Given the description of an element on the screen output the (x, y) to click on. 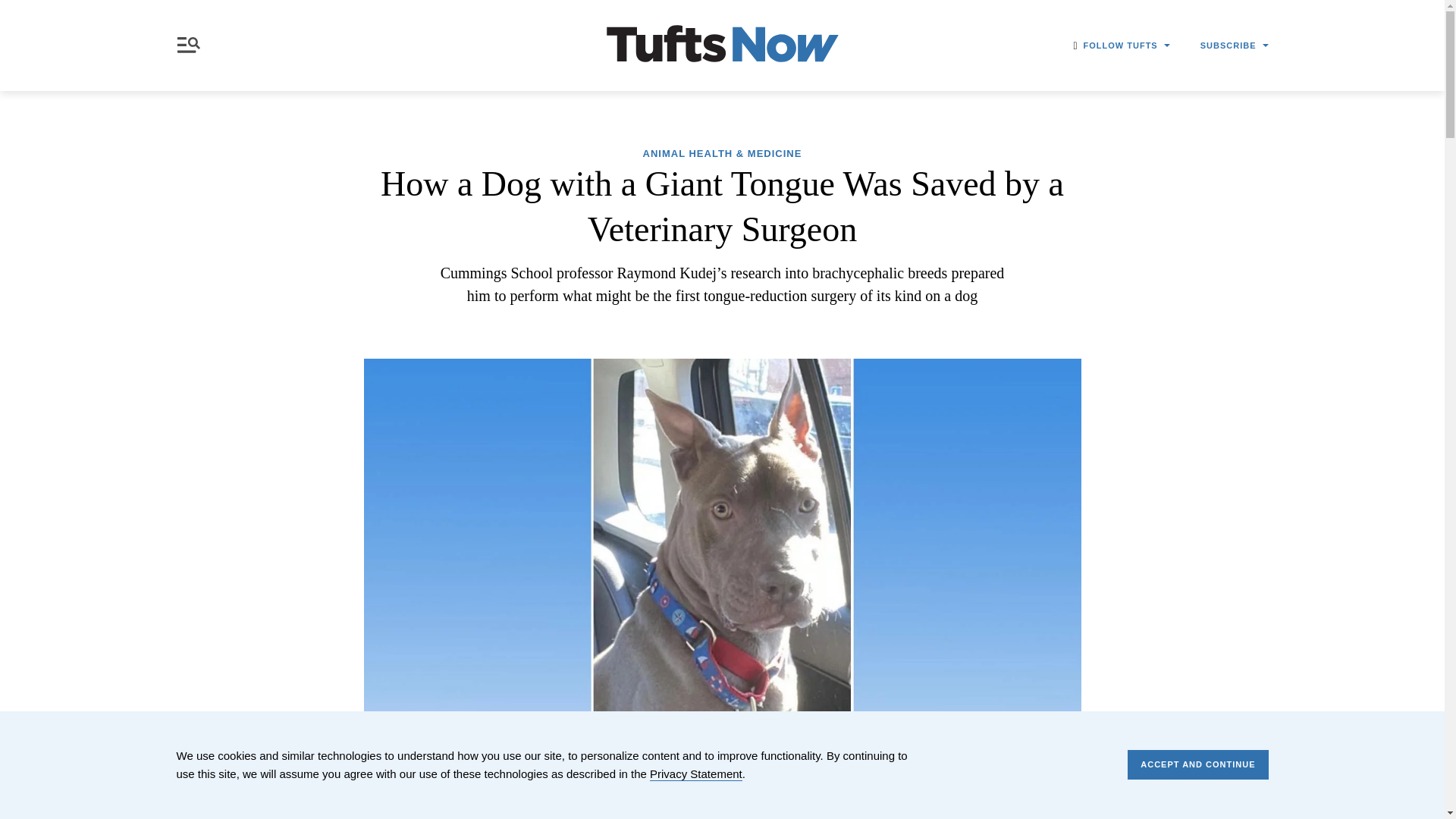
Privacy Statement (695, 774)
ACCEPT AND CONTINUE (1197, 764)
Subscribe (1103, 179)
Menu (191, 45)
FOLLOW TUFTS (1126, 45)
SKIP TO MAIN CONTENT (13, 9)
Apply (1066, 140)
SUBSCRIBE (1233, 45)
